Given the description of an element on the screen output the (x, y) to click on. 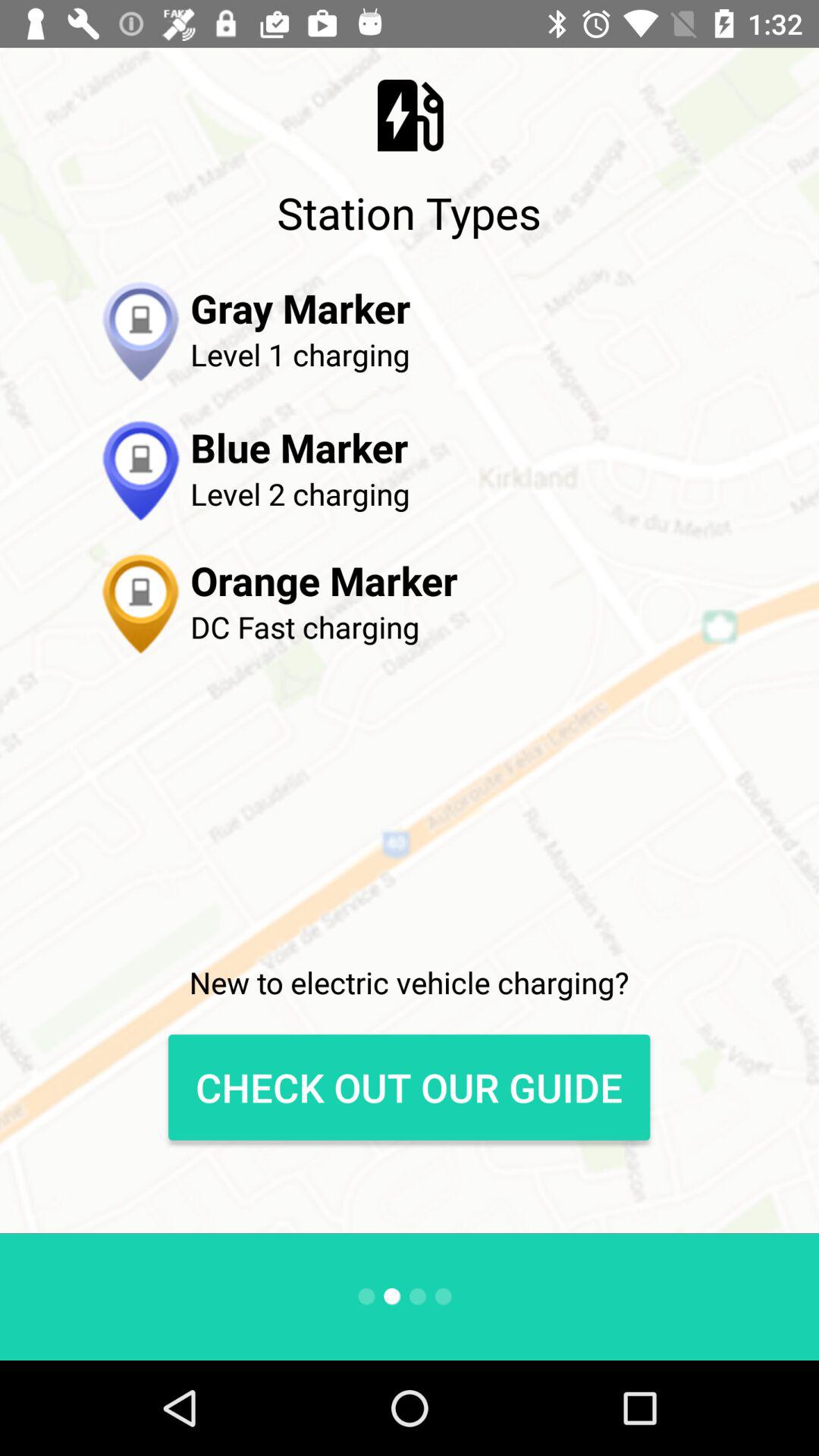
select icon below new to electric item (409, 1087)
